Given the description of an element on the screen output the (x, y) to click on. 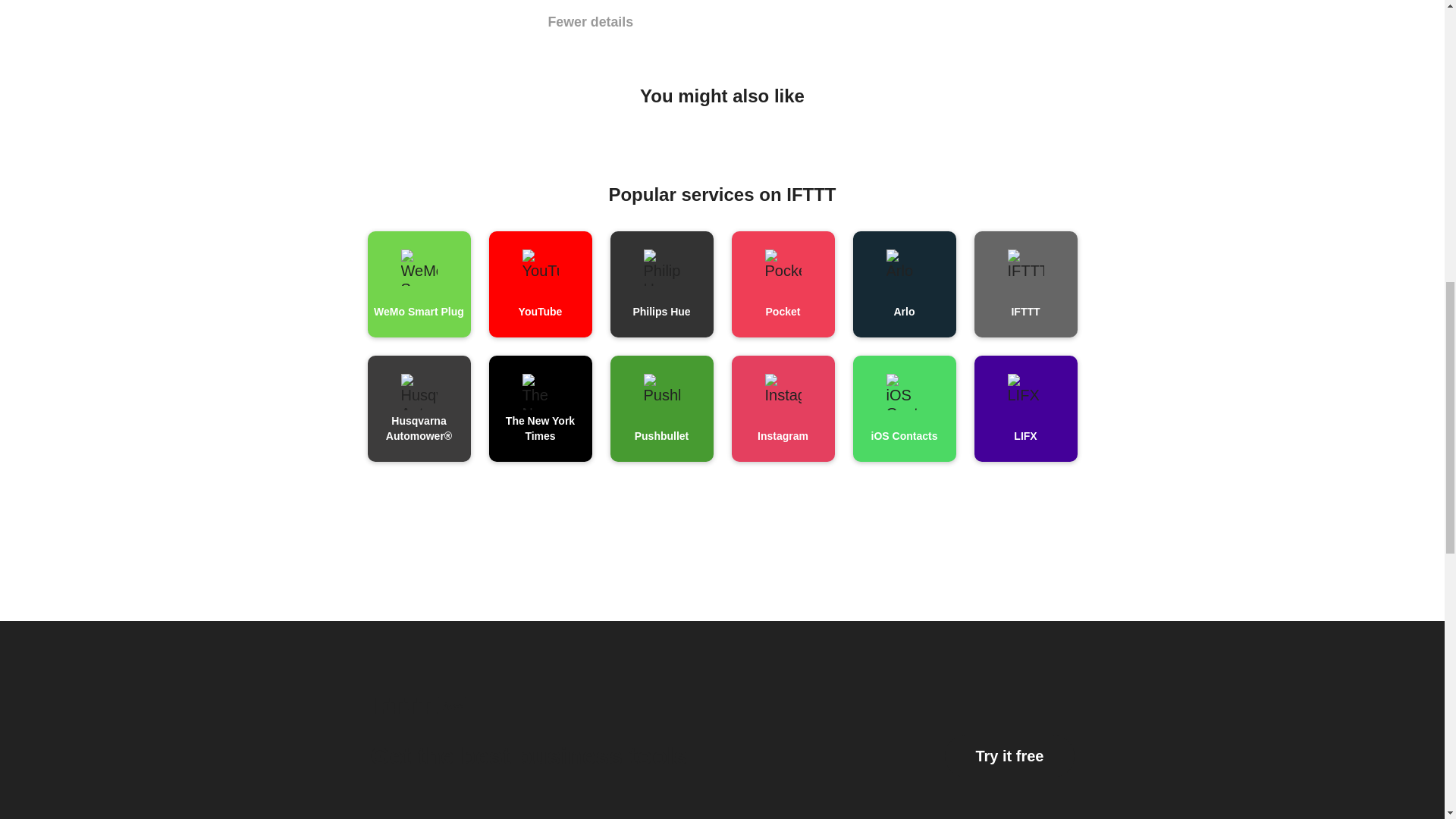
WeMo Smart Plug (418, 283)
YouTube (539, 283)
LIFX (1025, 408)
The New York Times (539, 408)
Arlo (903, 283)
Instagram (782, 408)
Fewer details (590, 22)
Pushbullet (661, 408)
iOS Contacts (903, 408)
Philips Hue (661, 283)
